Given the description of an element on the screen output the (x, y) to click on. 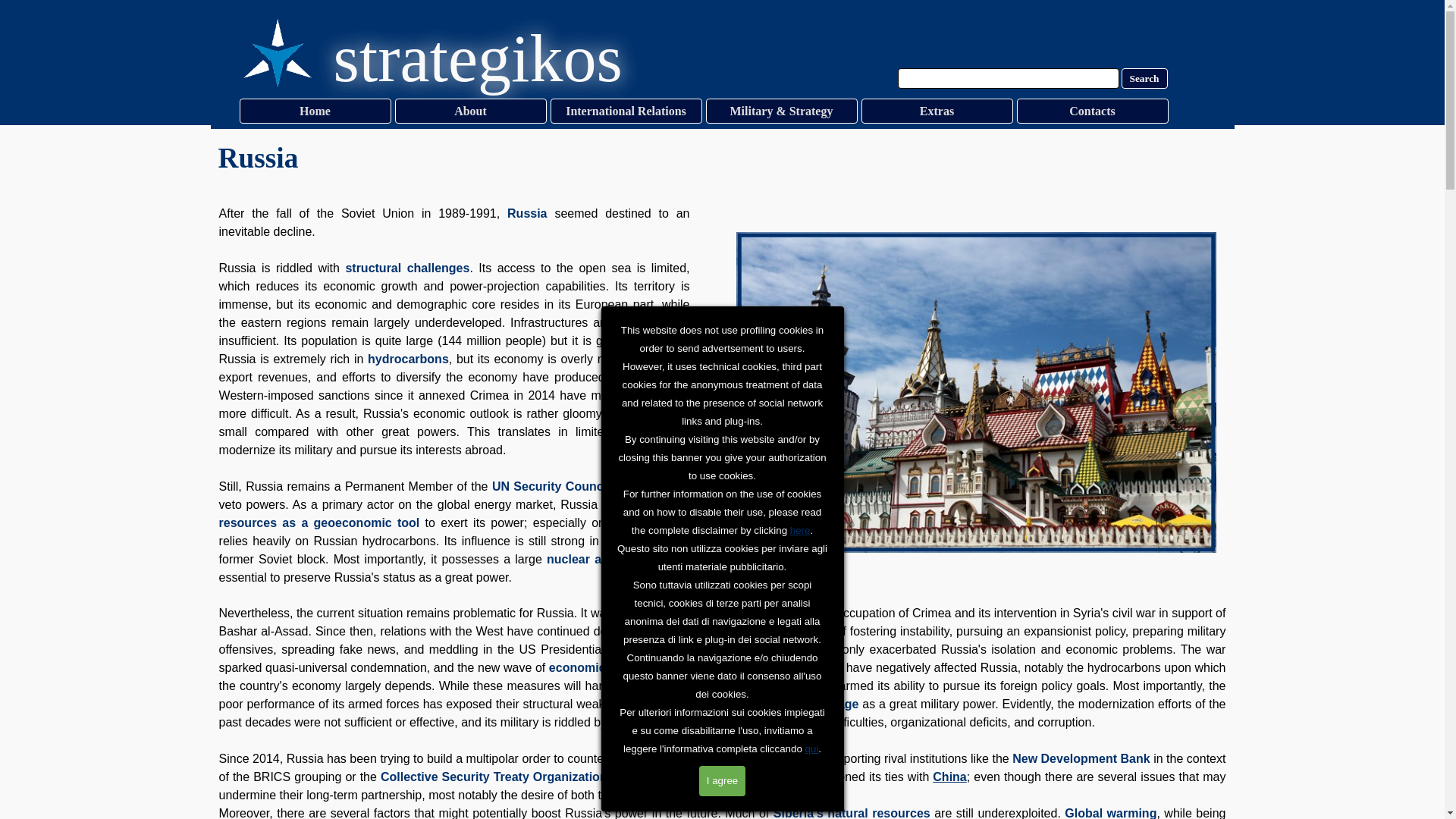
Contacts (1091, 110)
Search (1144, 77)
Home (315, 110)
